Given the description of an element on the screen output the (x, y) to click on. 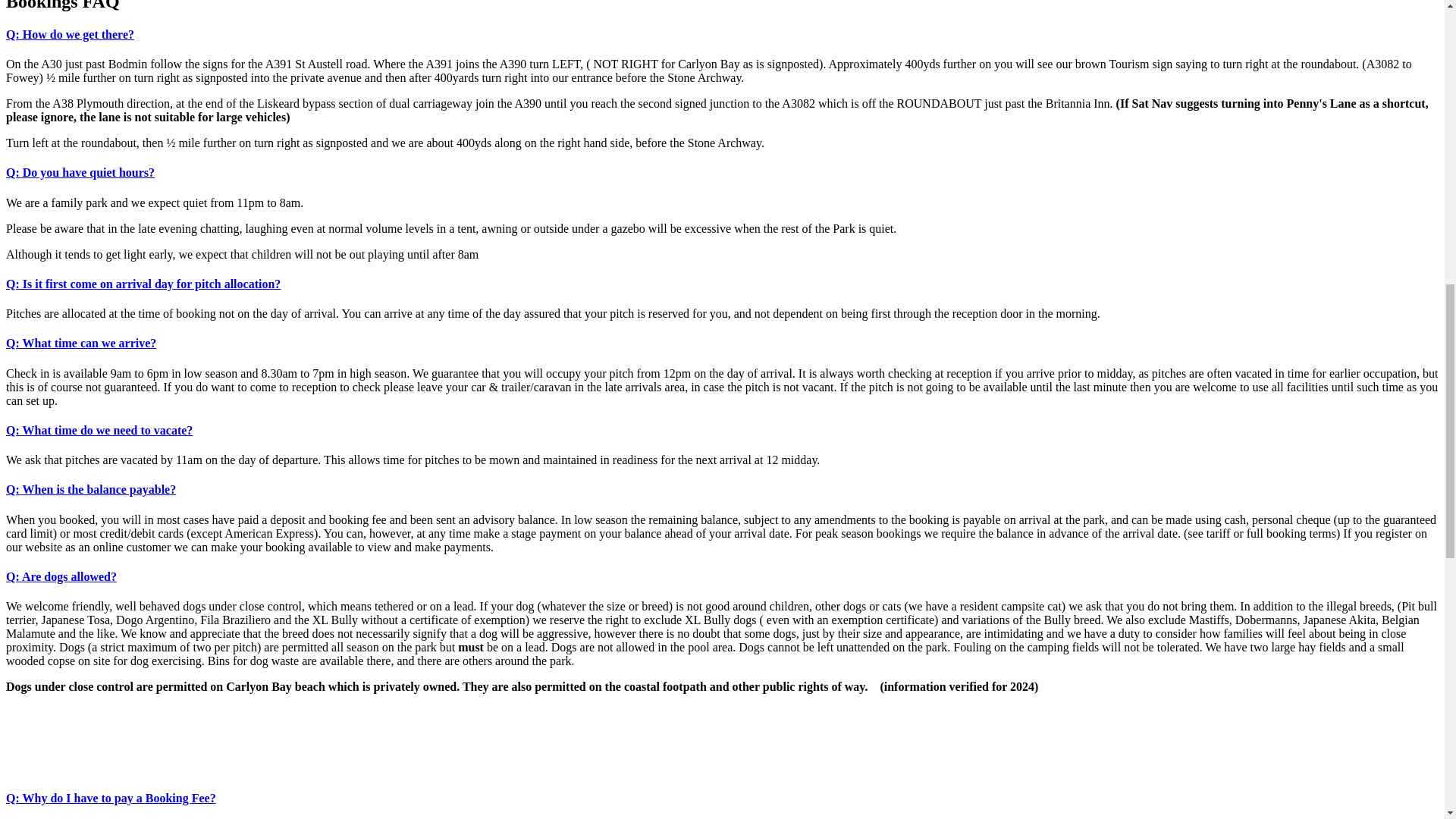
Q: Do you have quiet hours? (79, 172)
Q: Why do I have to pay a Booking Fee? (110, 797)
Q: What time do we need to vacate? (98, 430)
Q: Is it first come on arrival day for pitch allocation? (143, 283)
Q: When is the balance payable? (90, 489)
Q: How do we get there? (69, 33)
Q: Are dogs allowed? (60, 576)
Q: What time can we arrive? (80, 342)
